Given the description of an element on the screen output the (x, y) to click on. 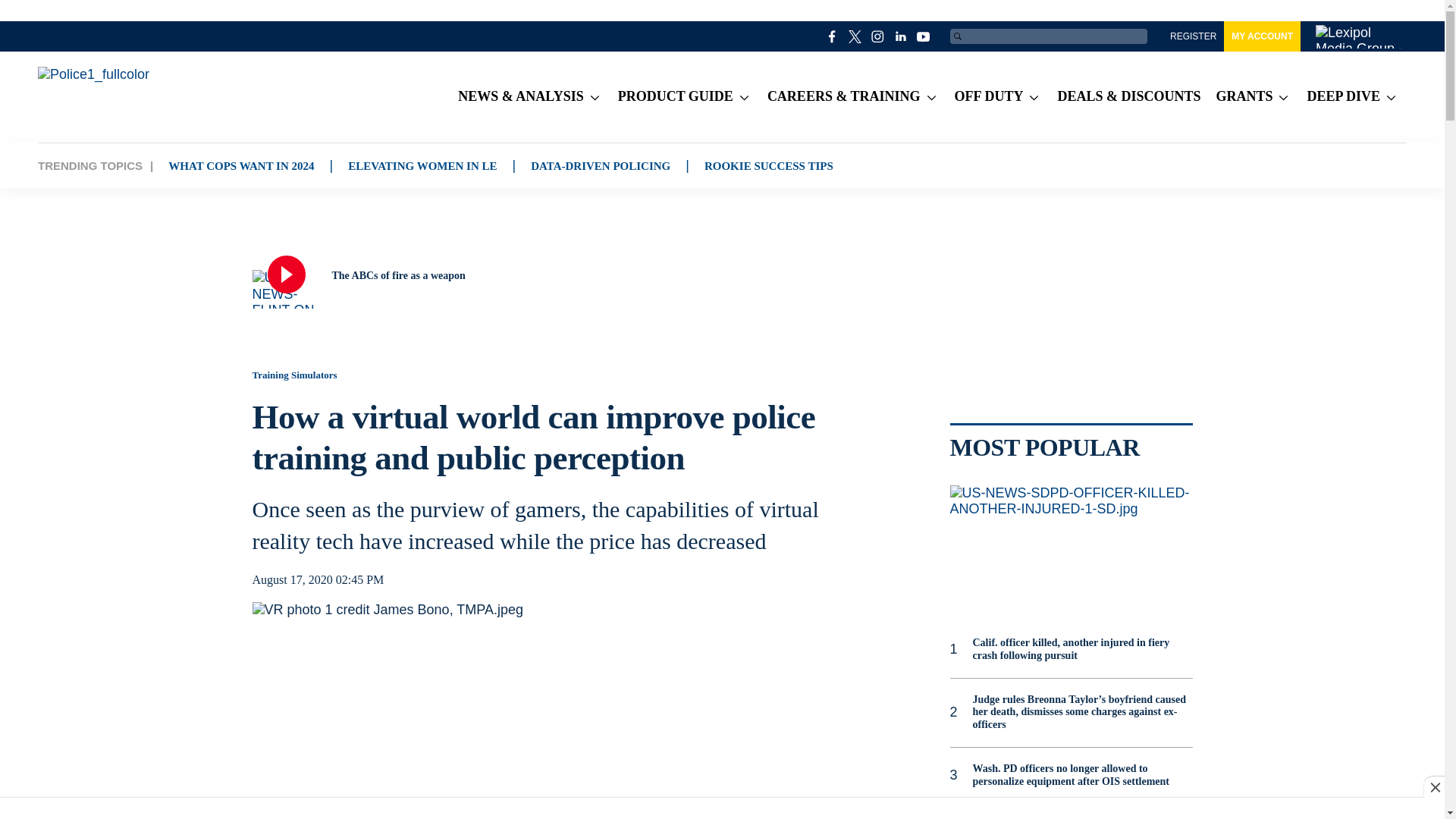
MY ACCOUNT (1262, 36)
linkedin (900, 36)
youtube (923, 36)
REGISTER (1192, 36)
instagram (877, 36)
facebook (832, 36)
twitter (855, 36)
